Given the description of an element on the screen output the (x, y) to click on. 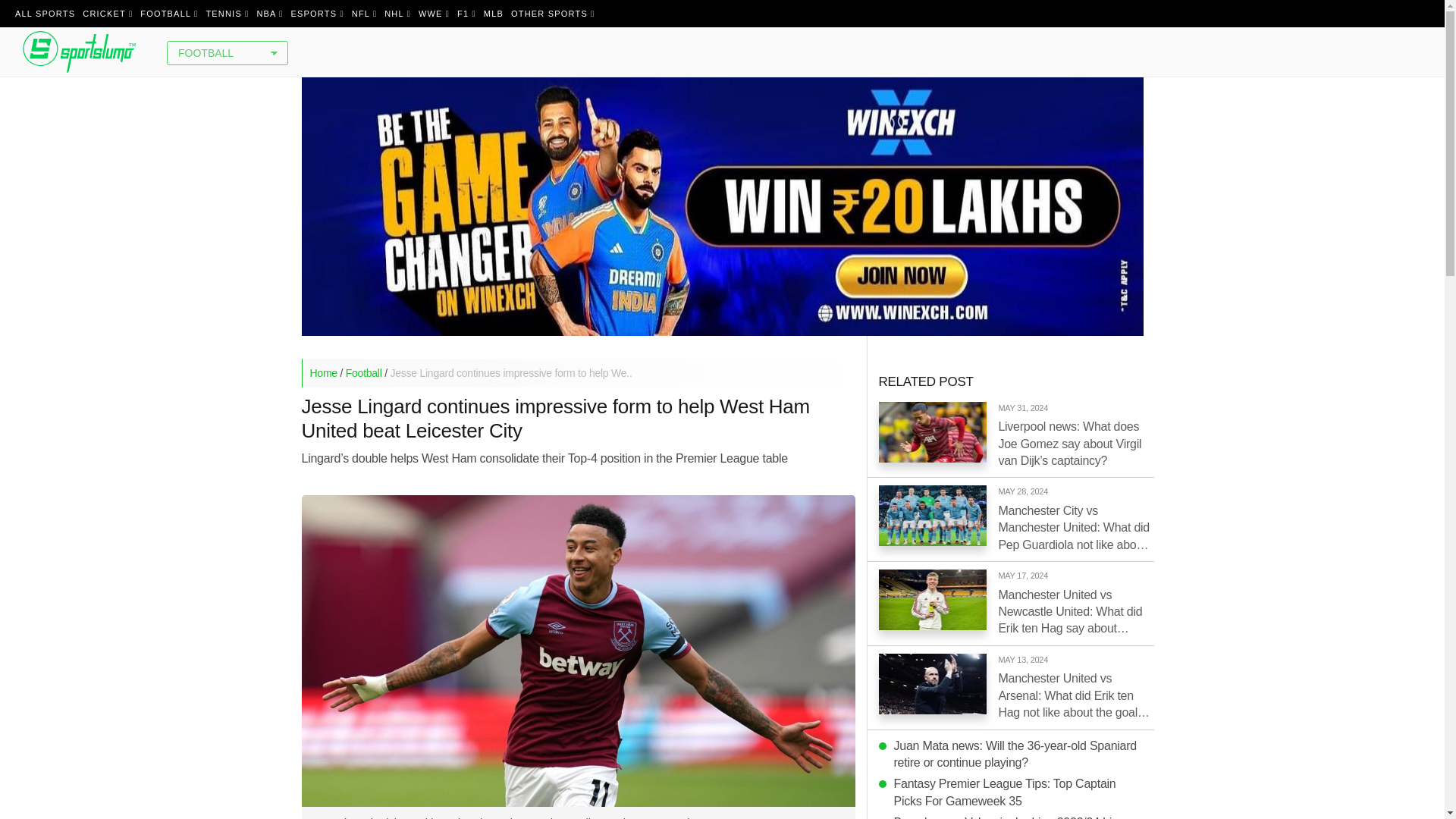
CRICKET (107, 13)
FOOTBALL (169, 13)
TENNIS (226, 13)
ALL SPORTS (44, 13)
